Given the description of an element on the screen output the (x, y) to click on. 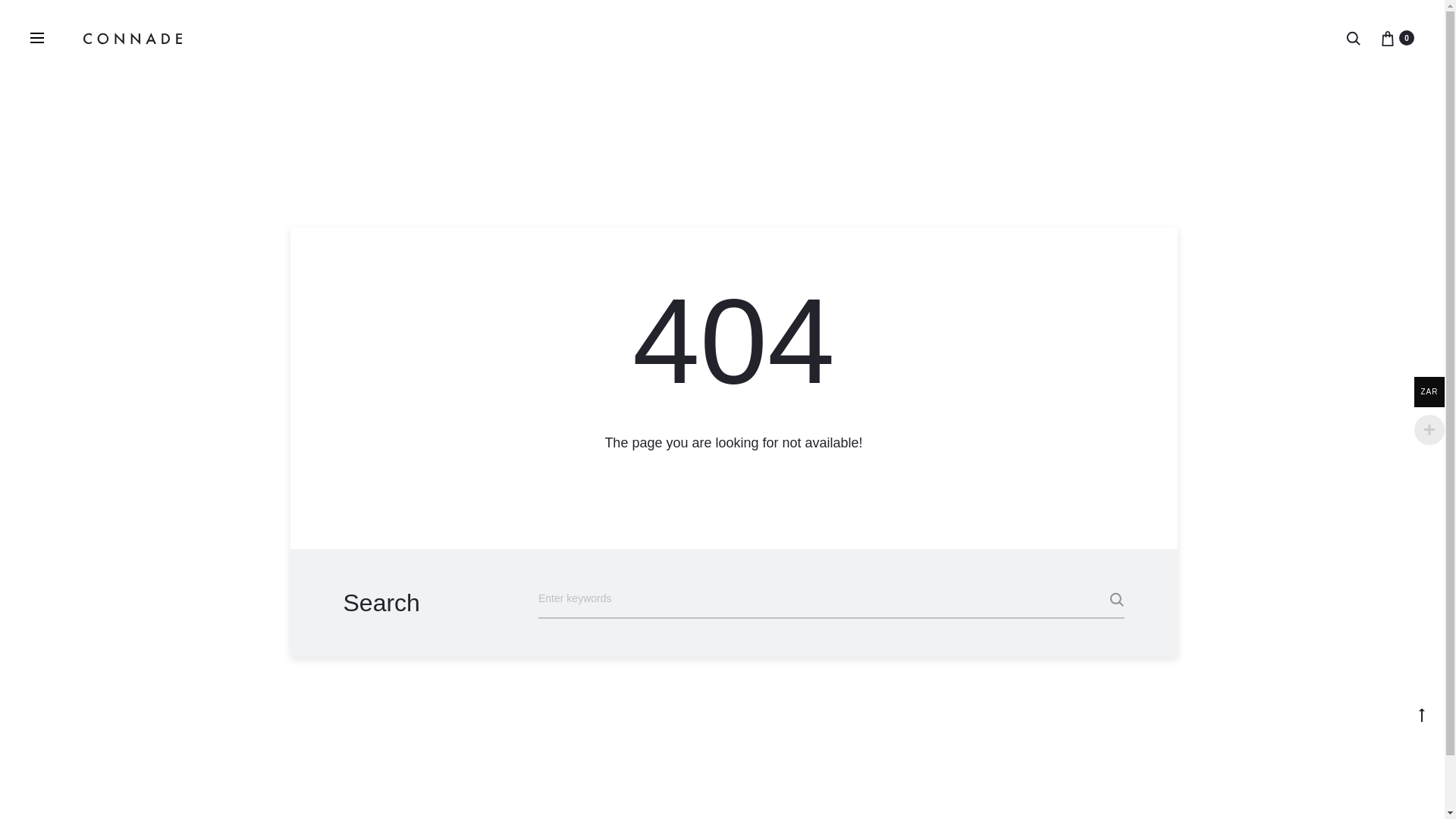
Search (1353, 37)
0 (1387, 37)
Search (1086, 599)
